Given the description of an element on the screen output the (x, y) to click on. 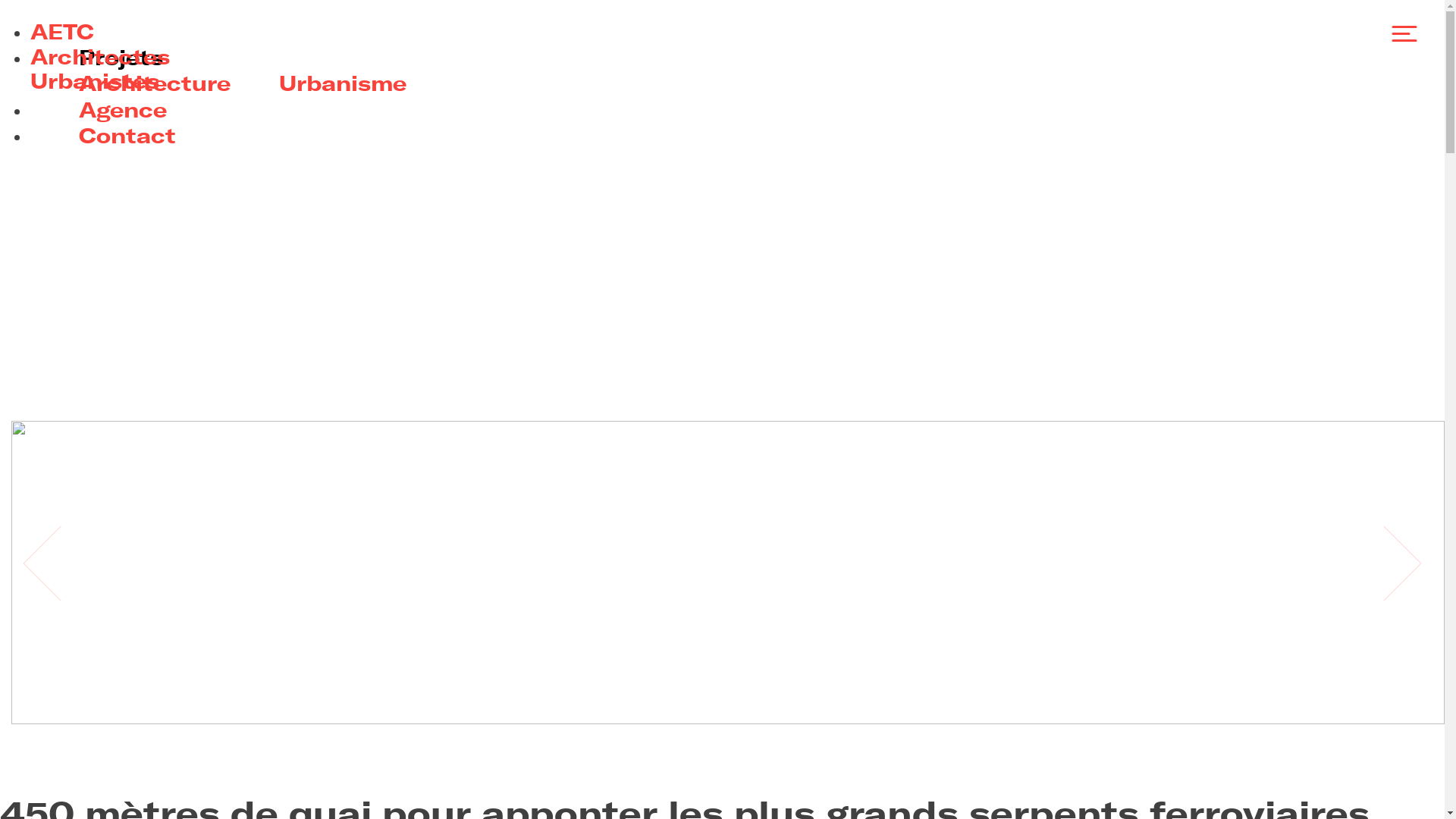
Architectes Urbanistes Element type: text (99, 68)
Toggle Navigation Element type: text (1395, 27)
Projets Element type: text (120, 57)
Agence Element type: text (122, 109)
Architecture Element type: text (154, 83)
AETC Element type: text (62, 31)
Urbanisme Element type: text (342, 83)
Contact Element type: text (126, 135)
